Given the description of an element on the screen output the (x, y) to click on. 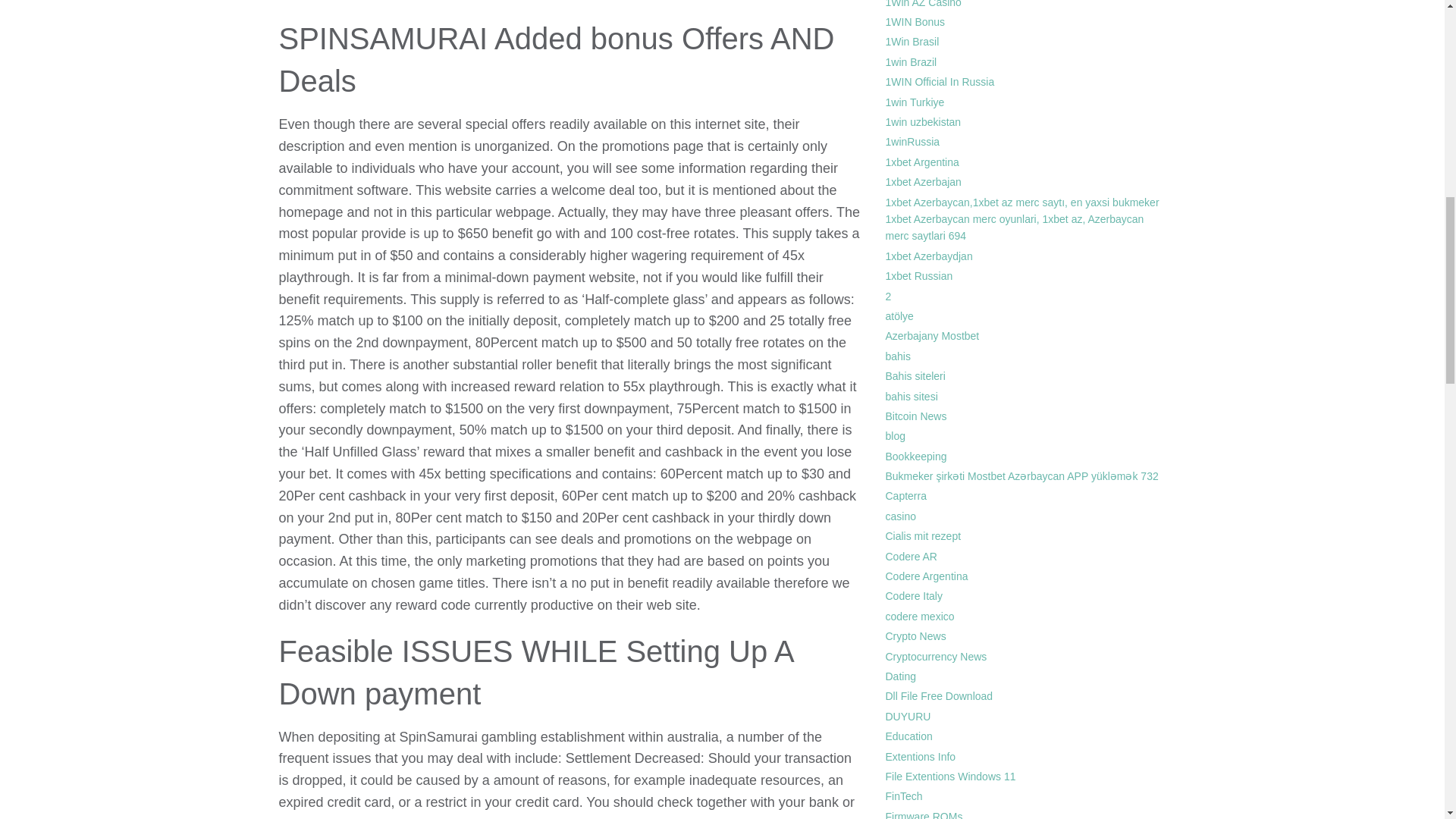
1win uzbekistan (922, 121)
1Win AZ Casino (922, 4)
1win Turkiye (914, 102)
Bitcoin News (916, 416)
1winRussia (912, 141)
1xbet Russian (919, 275)
1win Brazil (911, 61)
1Win Brasil (912, 41)
1WIN Official In Russia (939, 81)
1xbet Azerbajan (922, 182)
1WIN Bonus (914, 21)
bahis sitesi (911, 395)
Azerbajany Mostbet (932, 336)
1xbet Argentina (922, 162)
Bahis siteleri (914, 376)
